Given the description of an element on the screen output the (x, y) to click on. 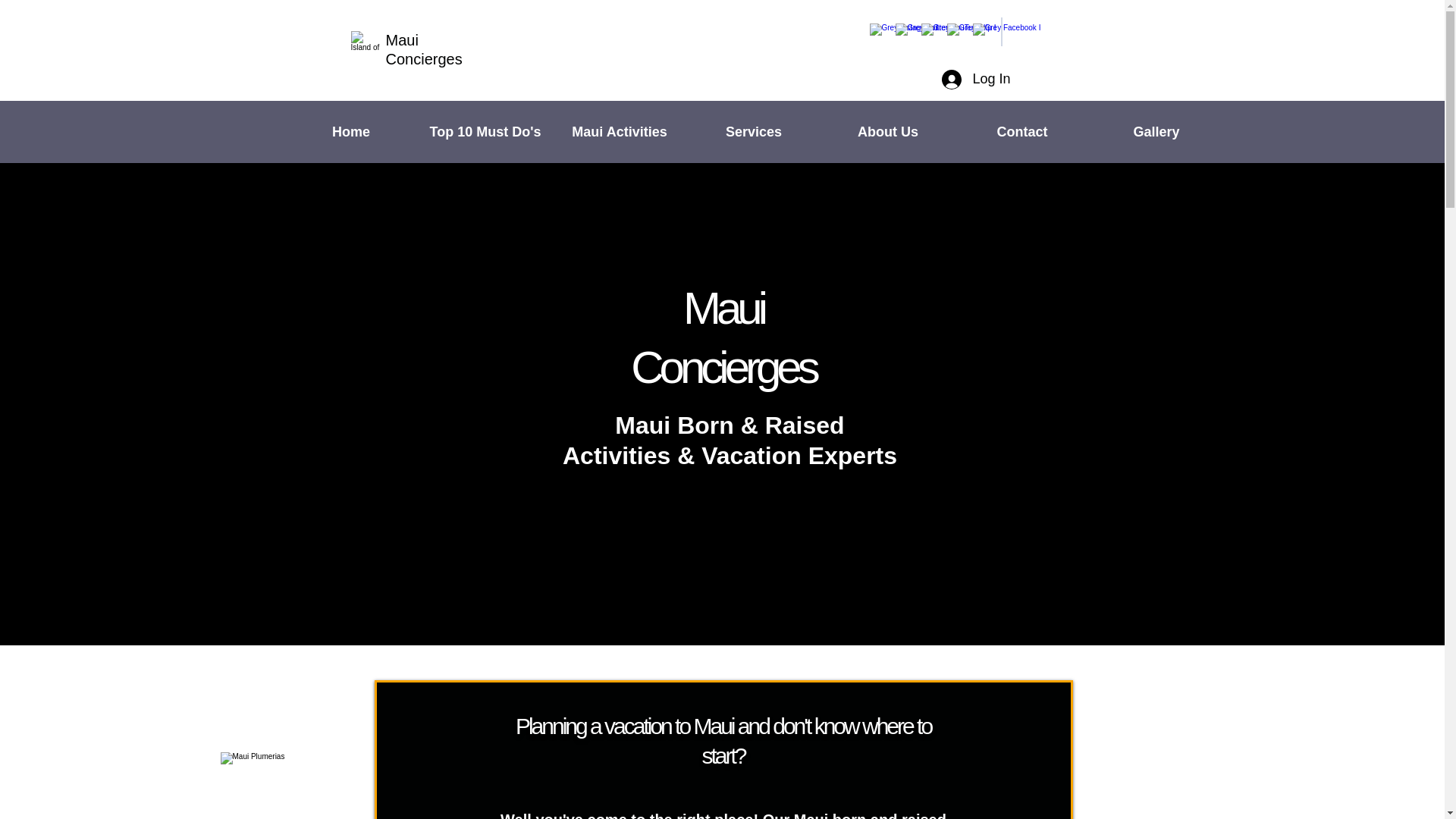
Log In (975, 79)
Maui Activities (618, 131)
Home (350, 131)
Top 10 Must Do's (486, 131)
